Given the description of an element on the screen output the (x, y) to click on. 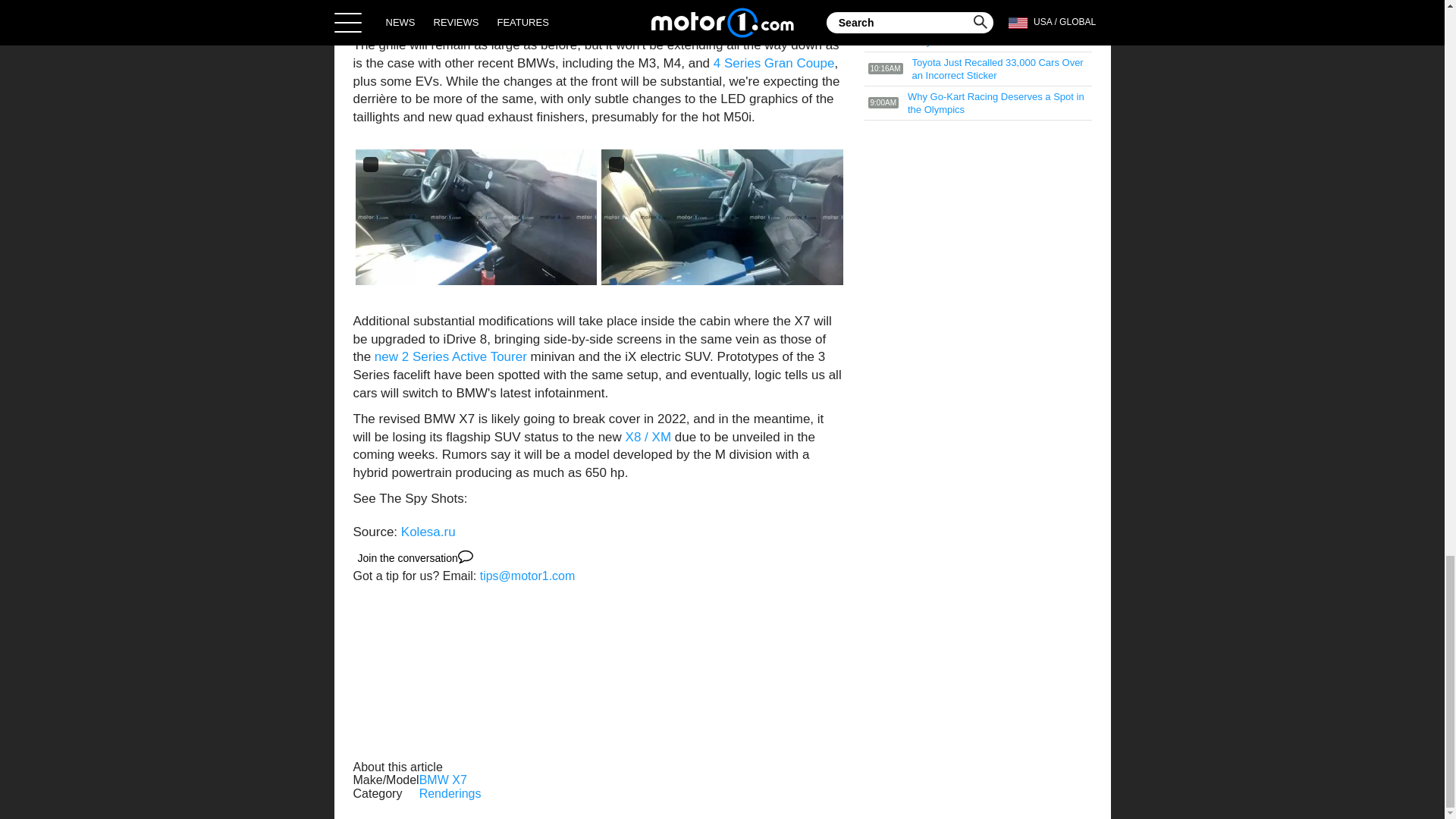
4 Series Gran Coupe (773, 63)
Kolesa.ru (428, 531)
new 2 Series Active Tourer (450, 356)
Join the conversation (415, 557)
